Given the description of an element on the screen output the (x, y) to click on. 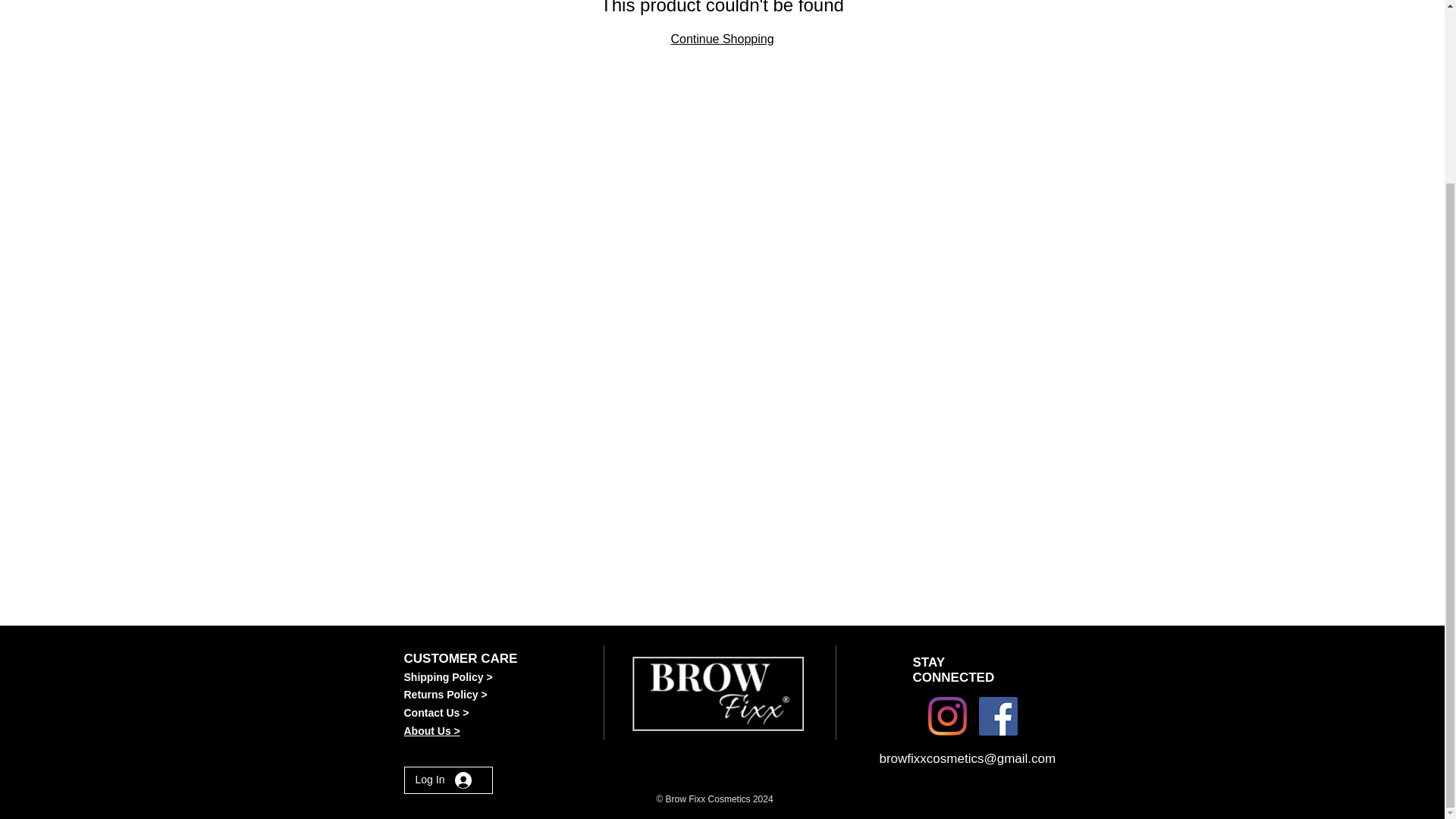
Continue Shopping (721, 38)
ABOUT (407, 0)
Log In (443, 780)
HOME (344, 0)
